Given the description of an element on the screen output the (x, y) to click on. 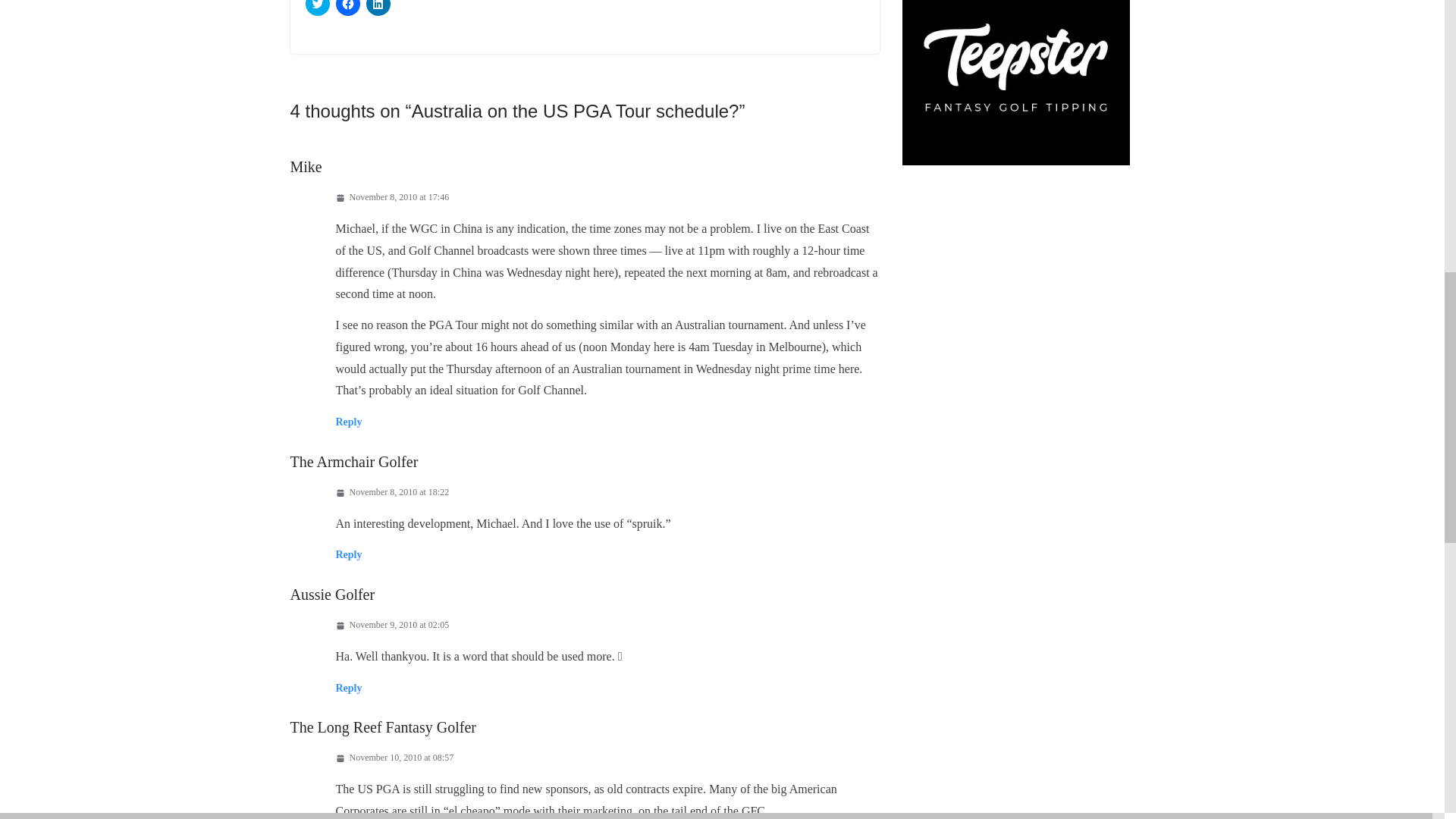
Click to share on LinkedIn (377, 7)
Mike (305, 166)
The Armchair Golfer (353, 461)
Click to share on Twitter (316, 7)
Reply (347, 687)
Reply (347, 421)
The Long Reef Fantasy Golfer (382, 727)
Reply (347, 554)
Click to share on Facebook (346, 7)
Aussie Golfer (331, 594)
